Given the description of an element on the screen output the (x, y) to click on. 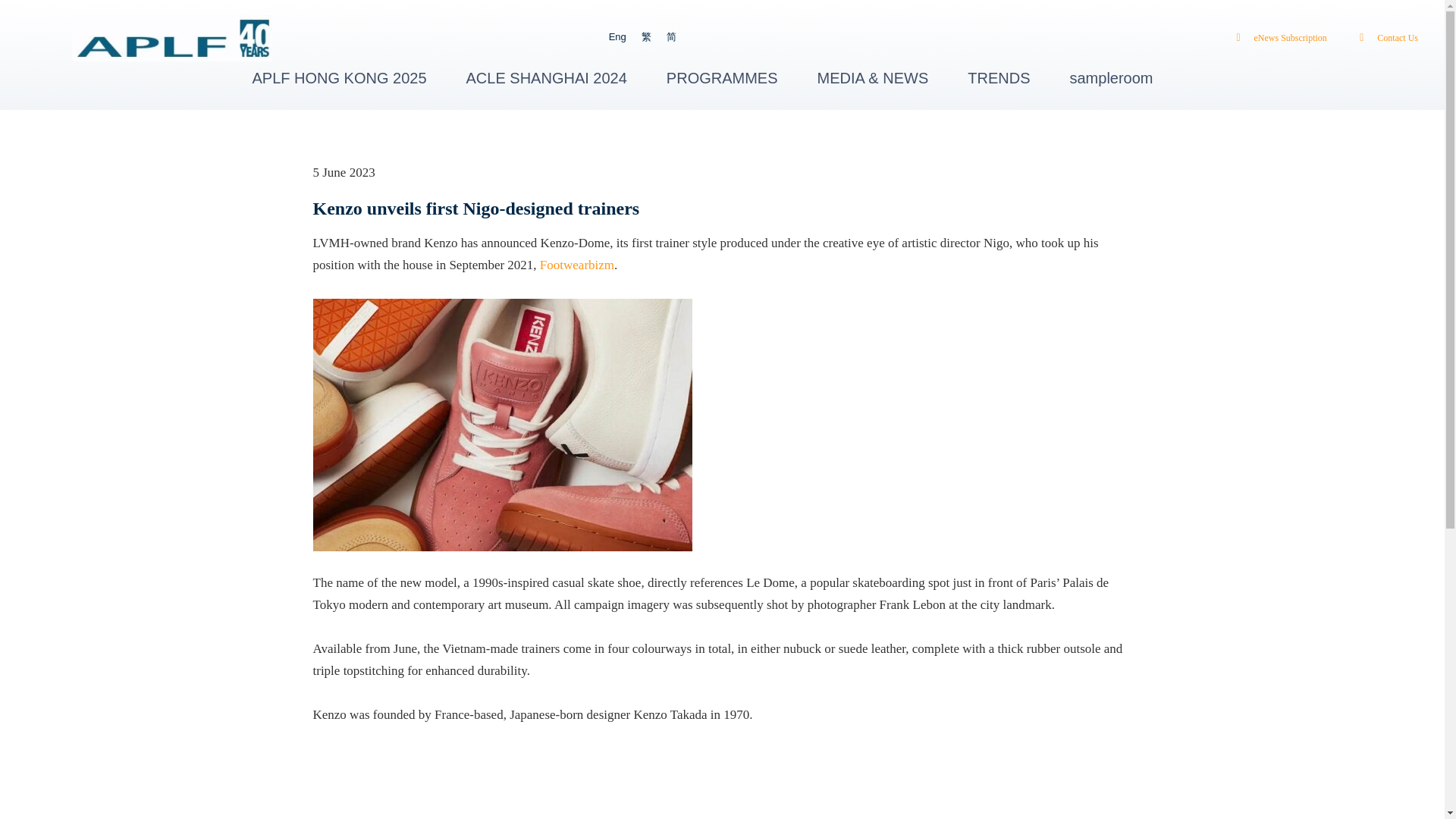
eNews Subscription (1276, 37)
Eng (617, 36)
Contact Us (1384, 37)
APLF HONG KONG 2025 (338, 77)
